Given the description of an element on the screen output the (x, y) to click on. 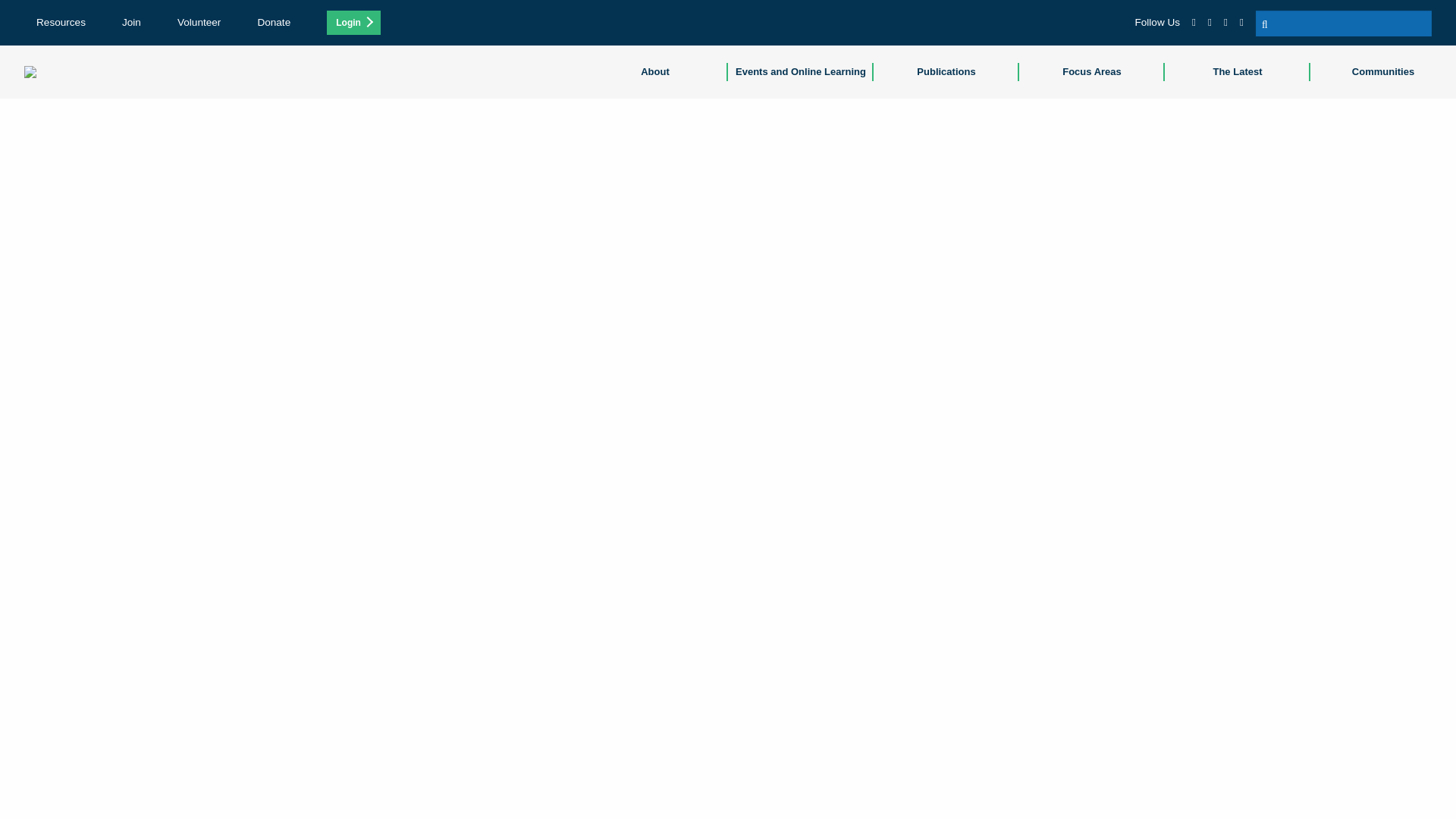
Login (353, 22)
Resources (60, 21)
Volunteer (199, 21)
Join (131, 21)
Donate (273, 21)
